Given the description of an element on the screen output the (x, y) to click on. 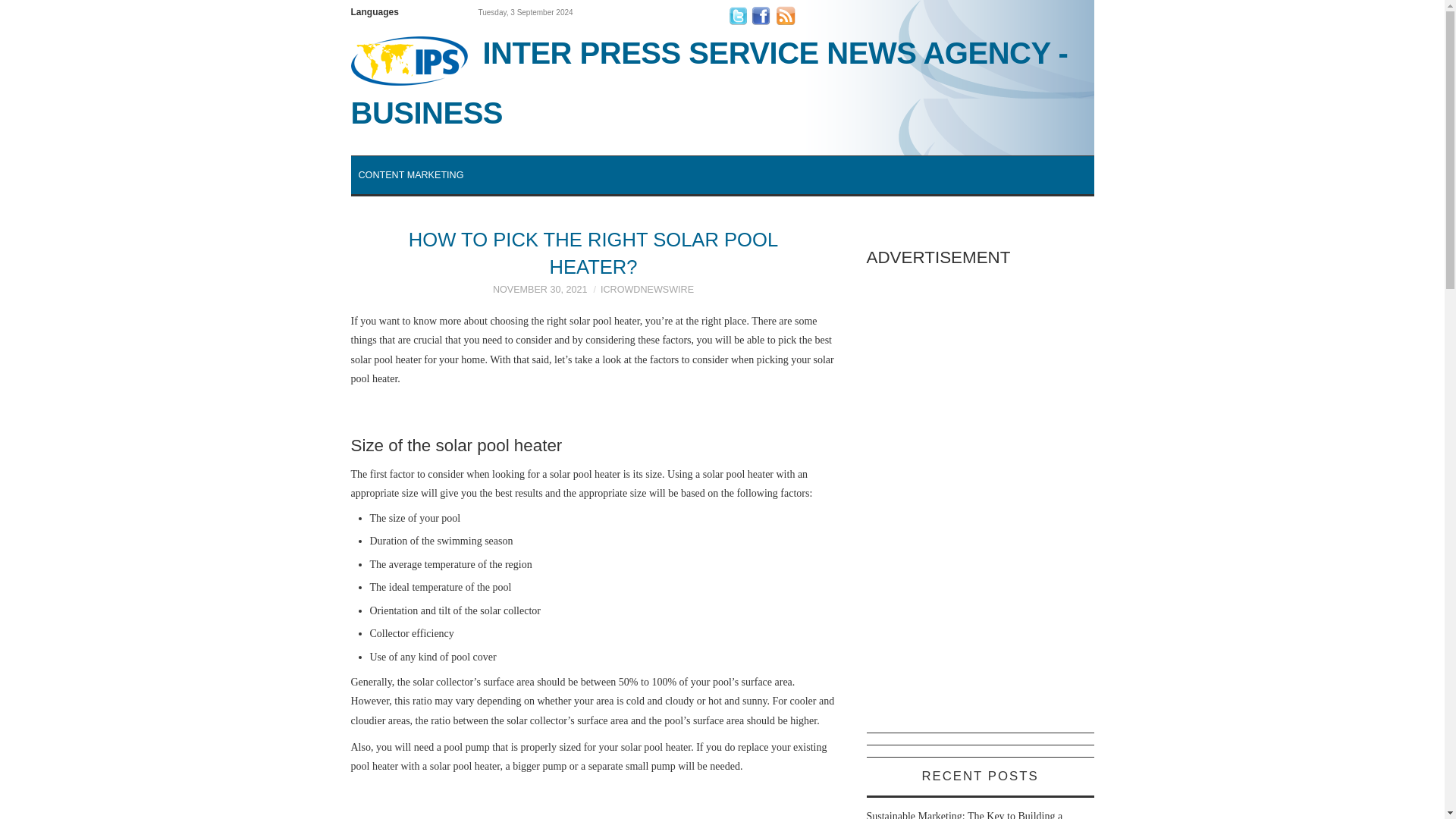
NOVEMBER 30, 2021 (540, 289)
Business (721, 82)
INTER PRESS SERVICE NEWS AGENCY - BUSINESS (721, 82)
CONTENT MARKETING (410, 175)
ICROWDNEWSWIRE (646, 289)
